Given the description of an element on the screen output the (x, y) to click on. 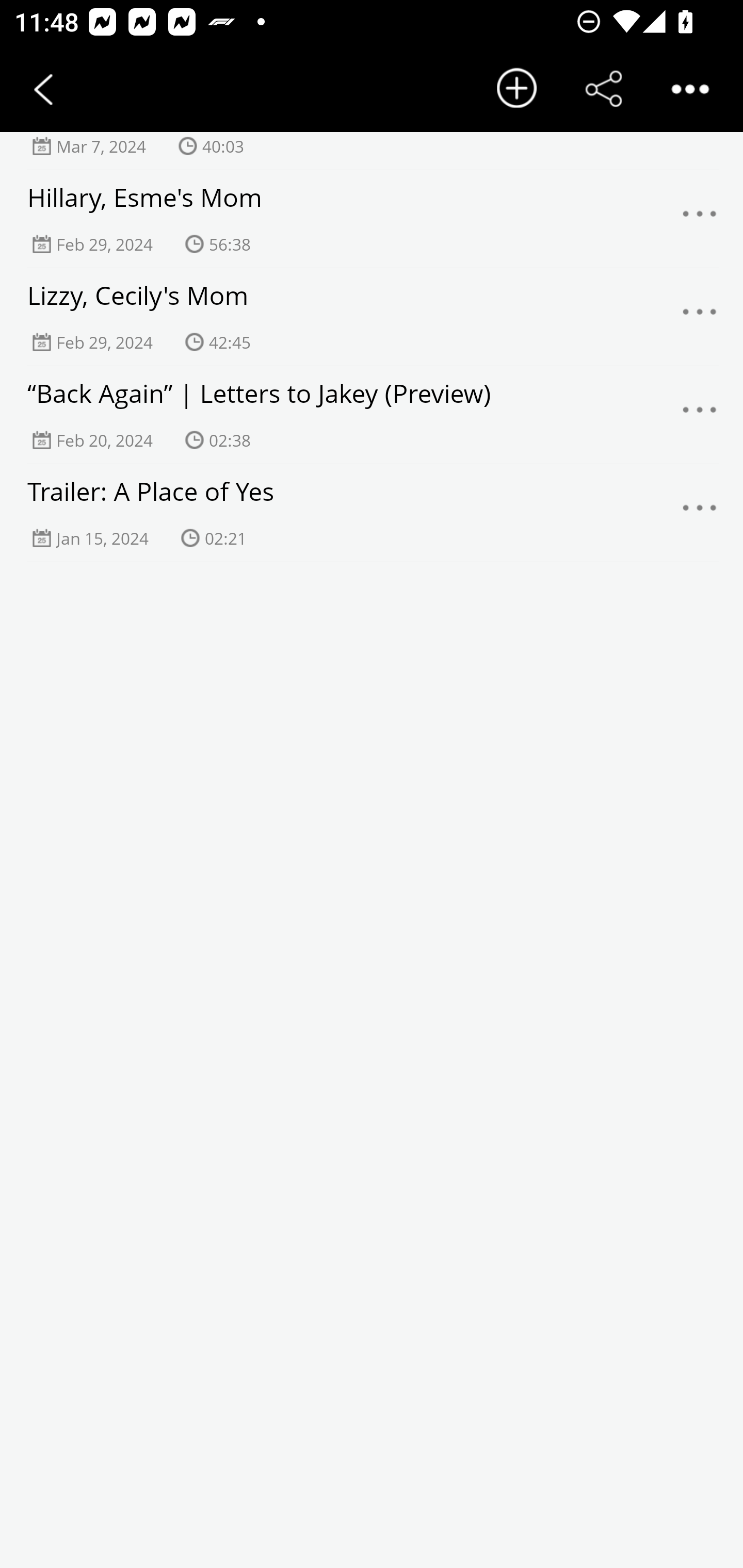
Back (43, 88)
Hillary, Esme's Mom Feb 29, 2024 56:38 Menu (371, 219)
Menu (699, 218)
Lizzy, Cecily's Mom Feb 29, 2024 42:45 Menu (371, 317)
Menu (699, 317)
Menu (699, 414)
Trailer: A Place of Yes Jan 15, 2024 02:21 Menu (371, 513)
Menu (699, 513)
